Given the description of an element on the screen output the (x, y) to click on. 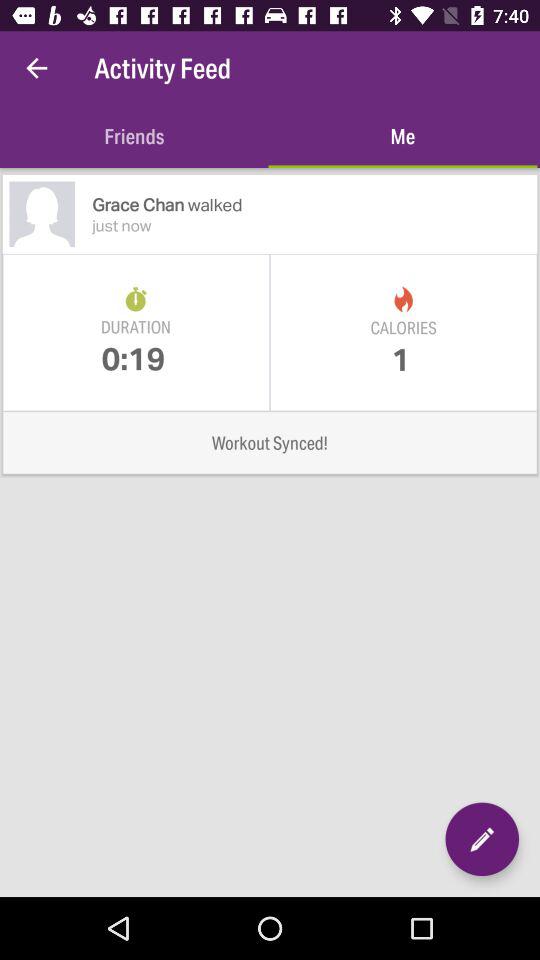
add activity (482, 839)
